Given the description of an element on the screen output the (x, y) to click on. 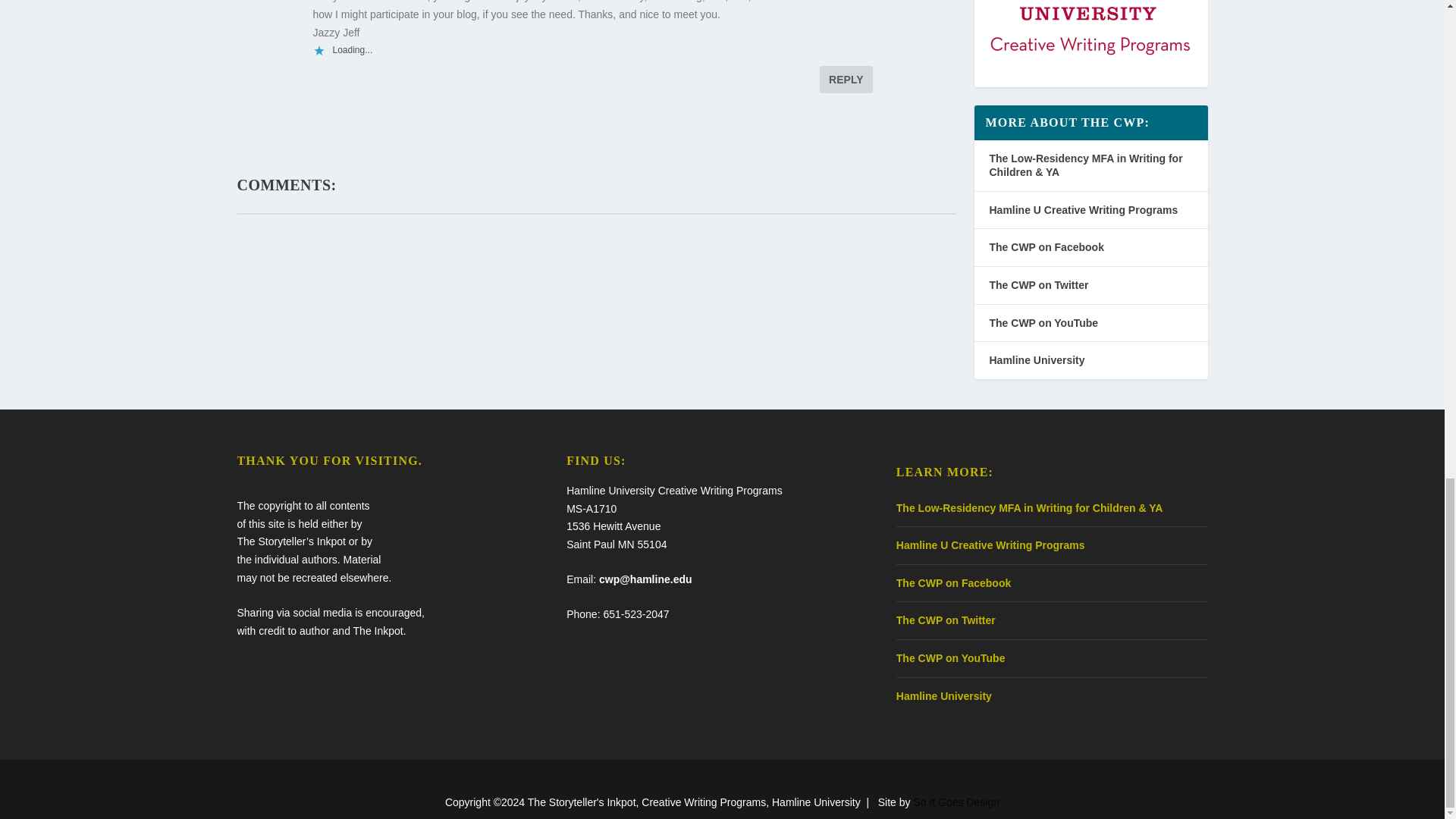
REPLY (845, 79)
